Given the description of an element on the screen output the (x, y) to click on. 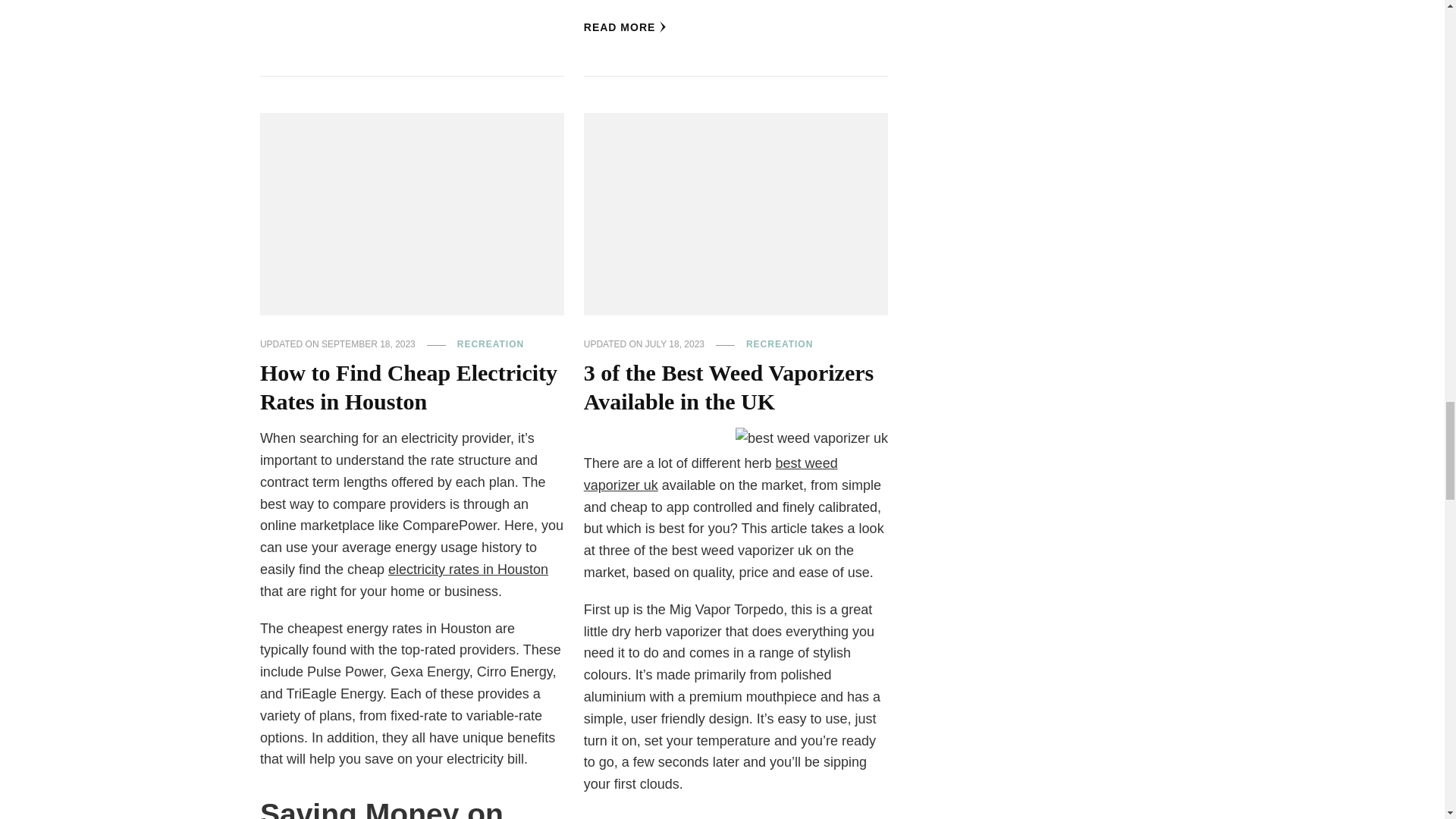
RECREATION (490, 345)
READ MORE (624, 27)
SEPTEMBER 18, 2023 (367, 345)
